Given the description of an element on the screen output the (x, y) to click on. 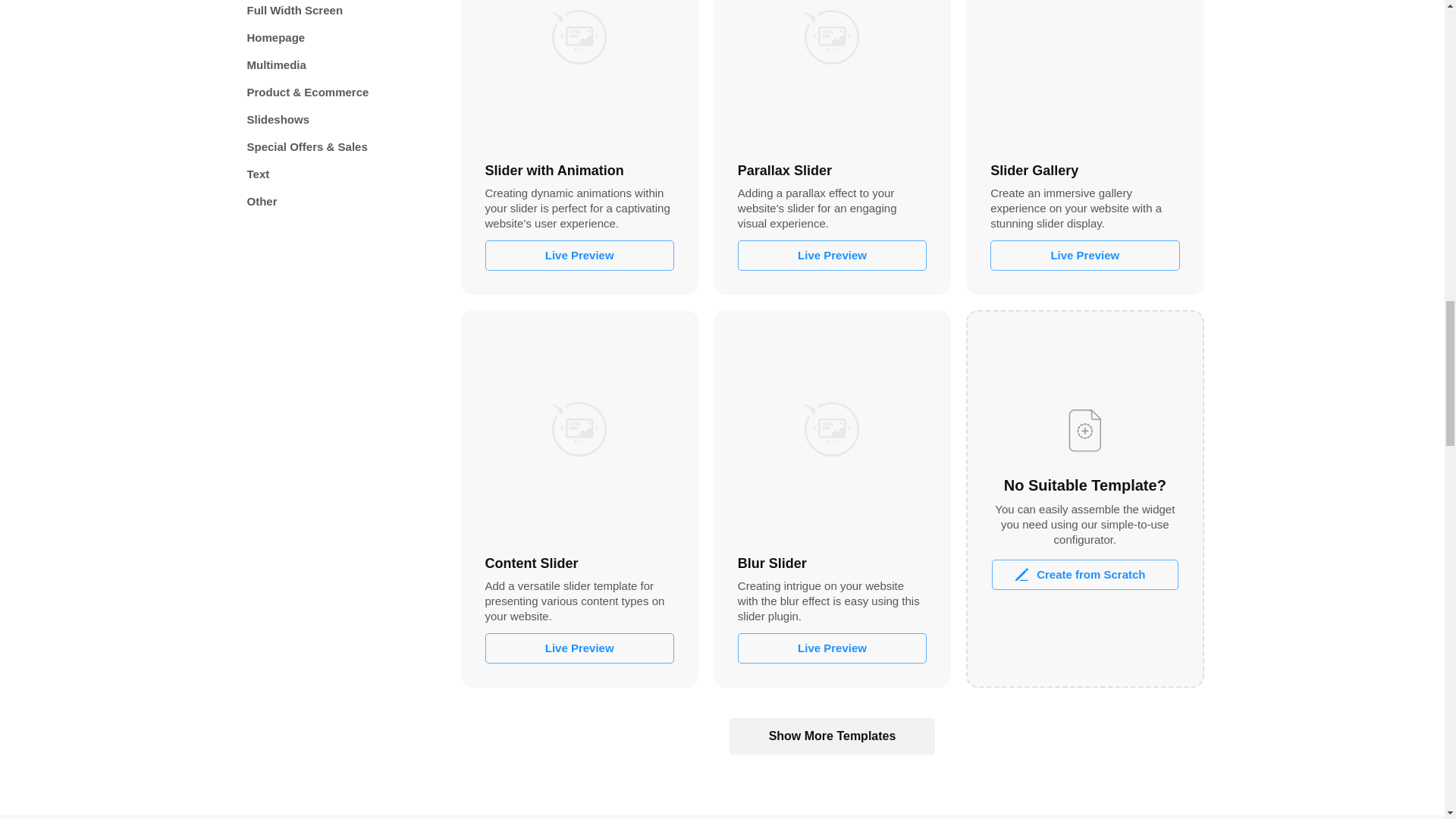
Blur Slider (832, 428)
Slider Gallery (1084, 73)
Parallax Slider (832, 73)
Slider with Animation (579, 73)
Content Slider (579, 428)
